Given the description of an element on the screen output the (x, y) to click on. 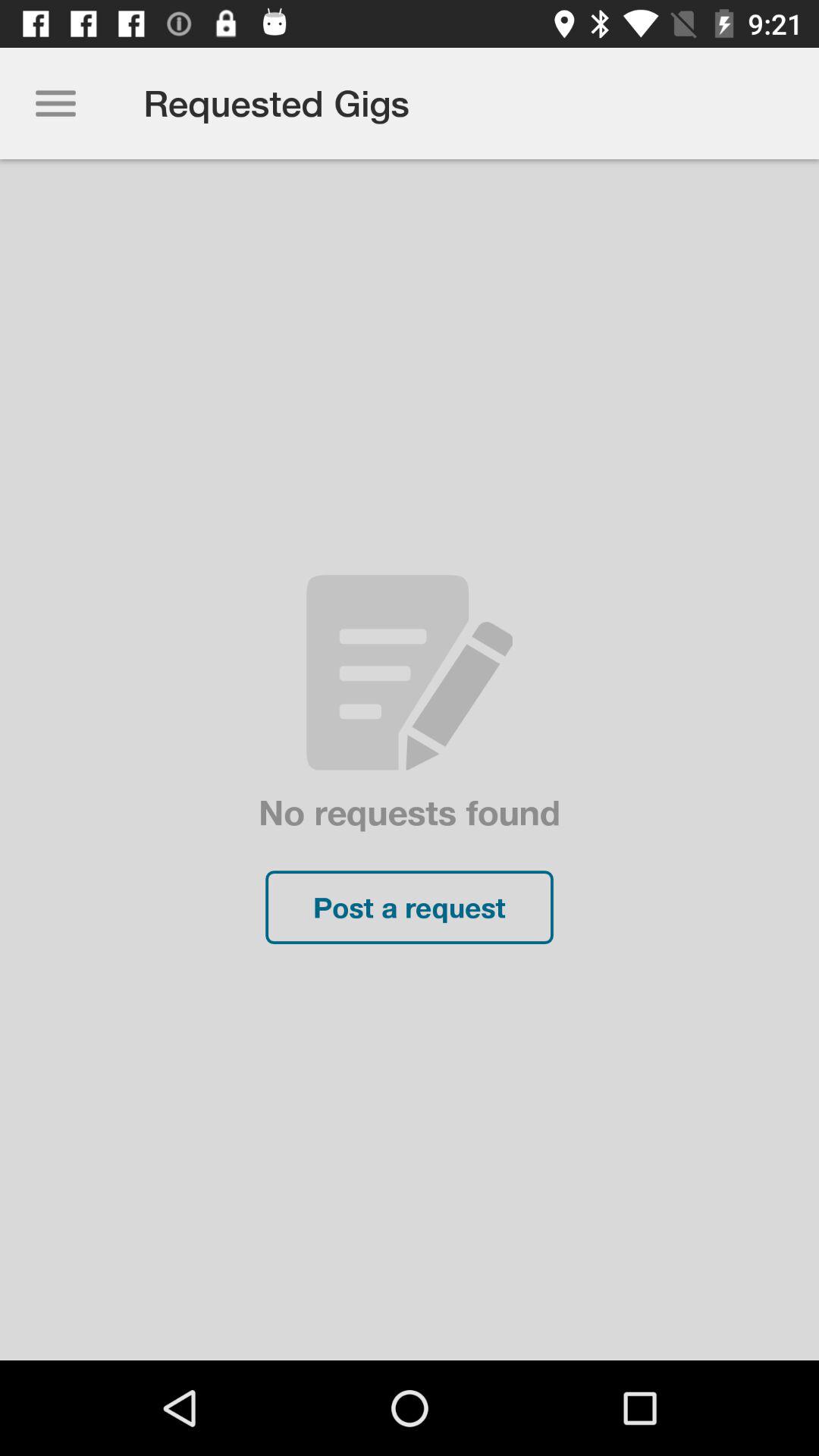
launch the icon to the left of the requested gigs item (55, 103)
